Given the description of an element on the screen output the (x, y) to click on. 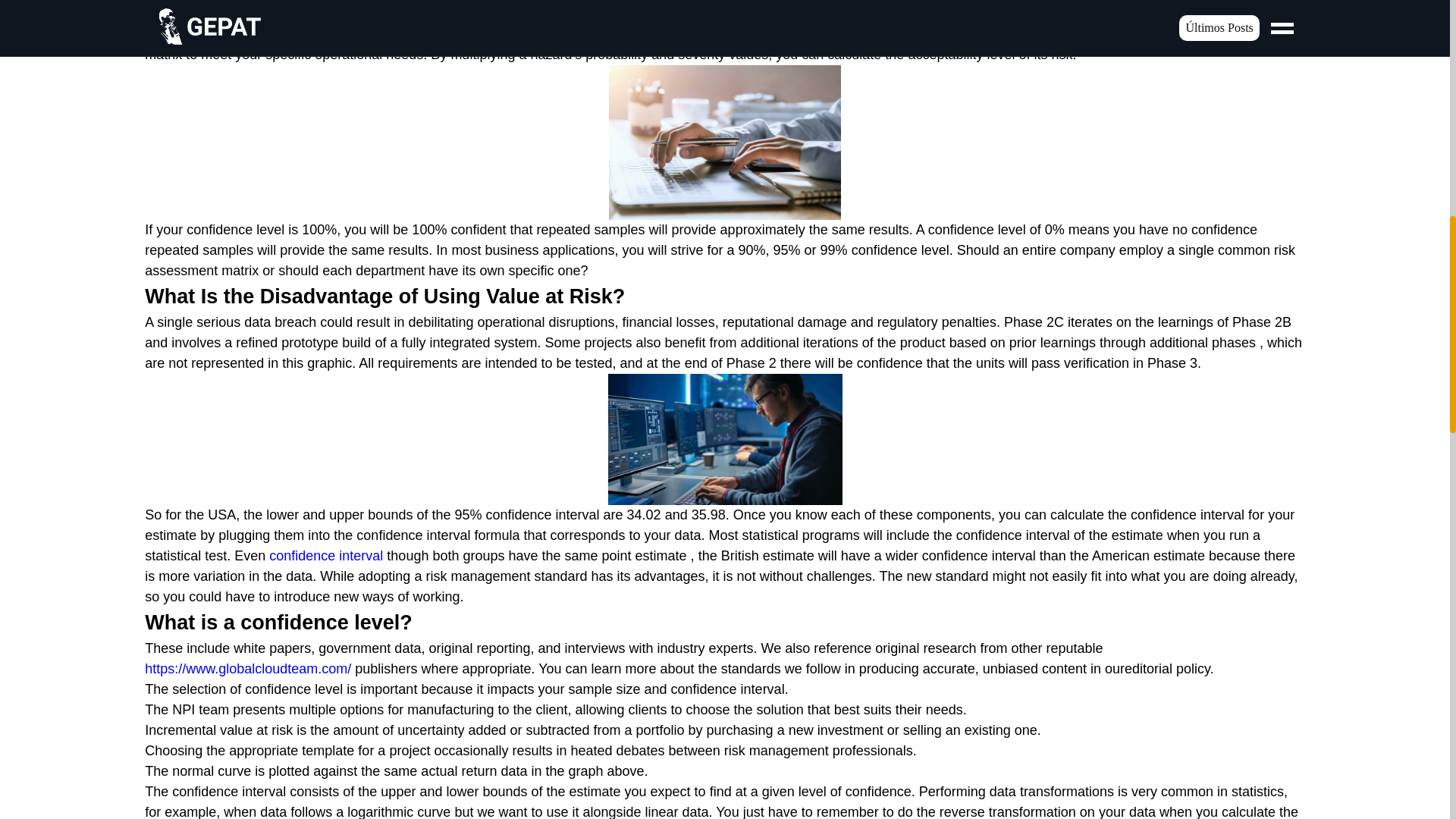
confidence interval (325, 555)
